Given the description of an element on the screen output the (x, y) to click on. 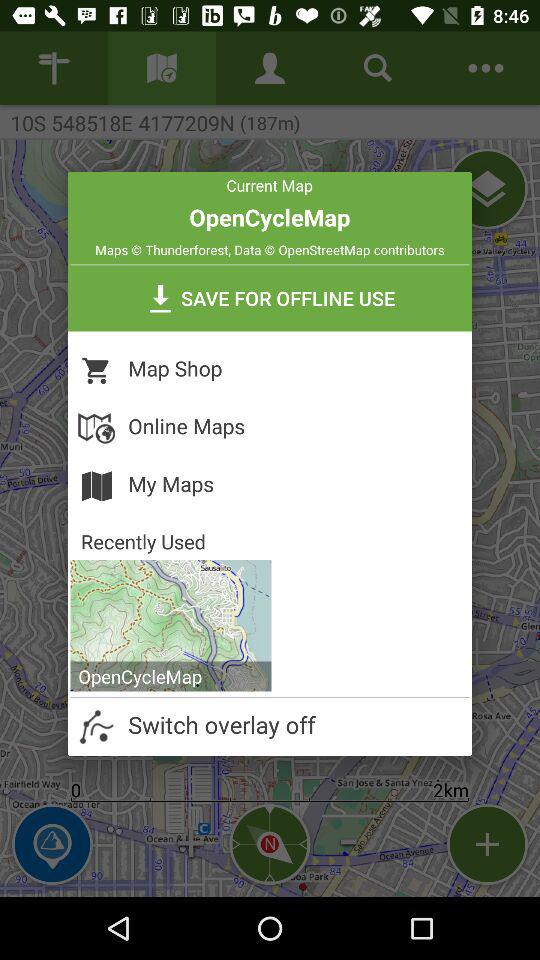
press save for offline item (269, 298)
